Given the description of an element on the screen output the (x, y) to click on. 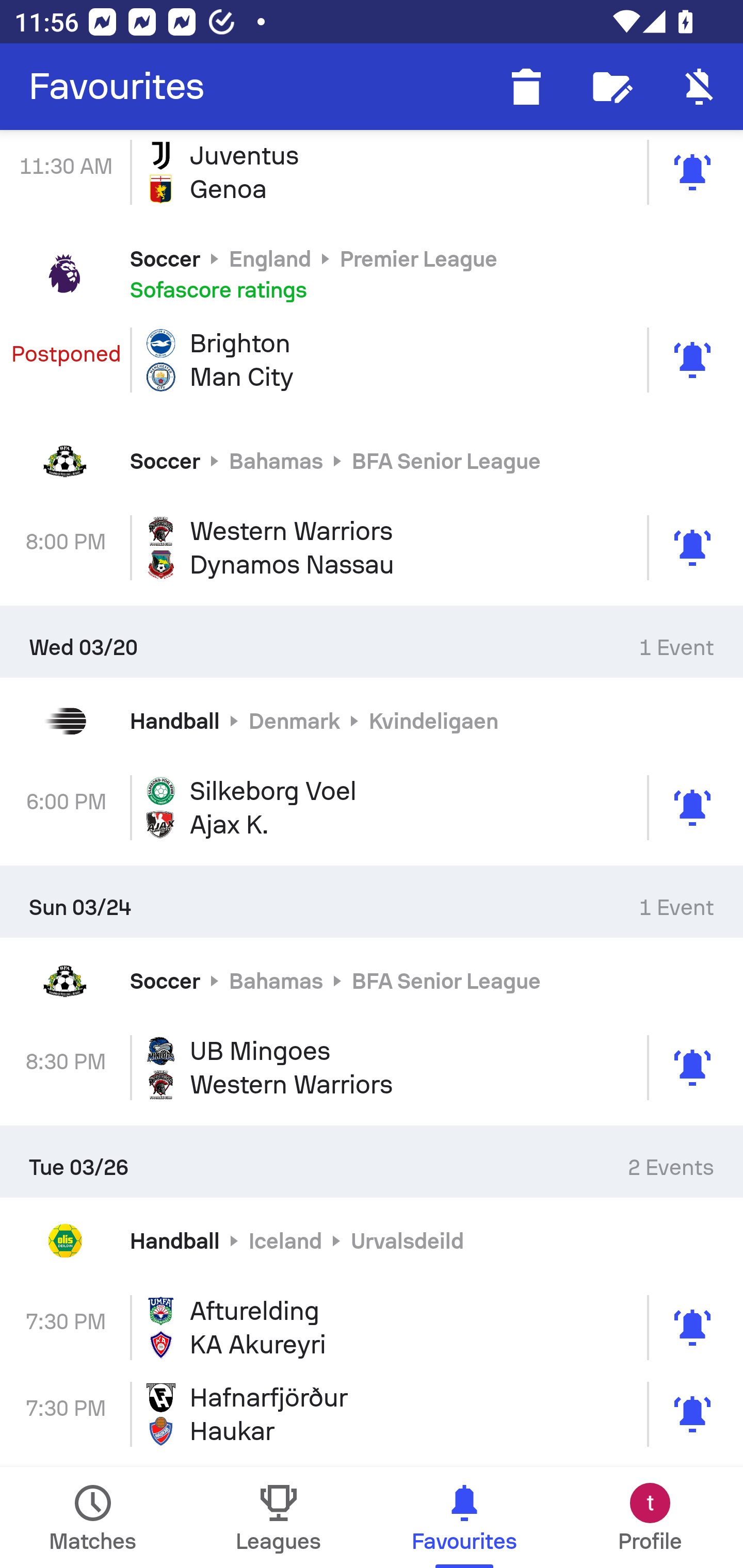
Favourites (116, 86)
Delete finished (525, 86)
Follow editor (612, 86)
Enable notifications (699, 86)
11:30 AM Juventus Genoa (371, 173)
Soccer England Premier League Sofascore ratings (371, 273)
Postponed Brighton Man City (371, 359)
Soccer Bahamas BFA Senior League (371, 460)
8:00 PM Western Warriors Dynamos Nassau (371, 547)
Wed 03/20 1 Event (371, 641)
Handball Denmark Kvindeligaen (371, 721)
6:00 PM Silkeborg Voel Ajax K. (371, 808)
Sun 03/24 1 Event (371, 901)
Soccer Bahamas BFA Senior League (371, 980)
8:30 PM UB Mingoes Western Warriors (371, 1067)
Tue 03/26 2 Events (371, 1161)
Handball Iceland Urvalsdeild (371, 1240)
7:30 PM Afturelding KA Akureyri (371, 1327)
7:30 PM Hafnarfjörður Haukar (371, 1414)
Matches (92, 1517)
Leagues (278, 1517)
Profile (650, 1517)
